Given the description of an element on the screen output the (x, y) to click on. 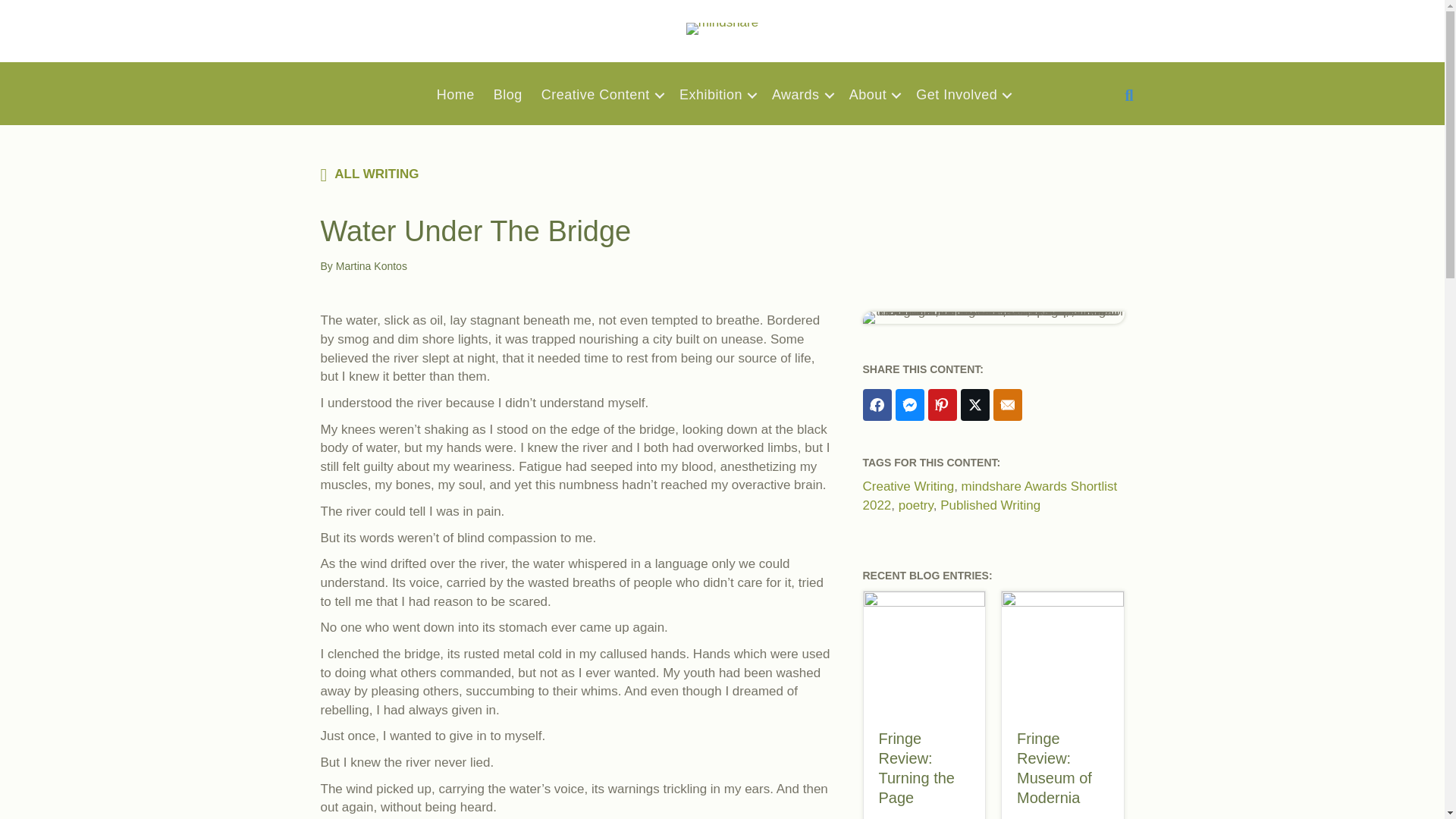
Fringe Review: Museum of Modernia (1062, 651)
Creative Content (600, 95)
Fringe Review: Turning the Page (915, 767)
Fringe Review: Museum of Modernia (1054, 767)
Share on Facebook (877, 404)
poetry (915, 504)
mindshare Awards Shortlist 2022 (990, 495)
About (873, 95)
Share on Pinterest (942, 404)
Published Writing (990, 504)
